Given the description of an element on the screen output the (x, y) to click on. 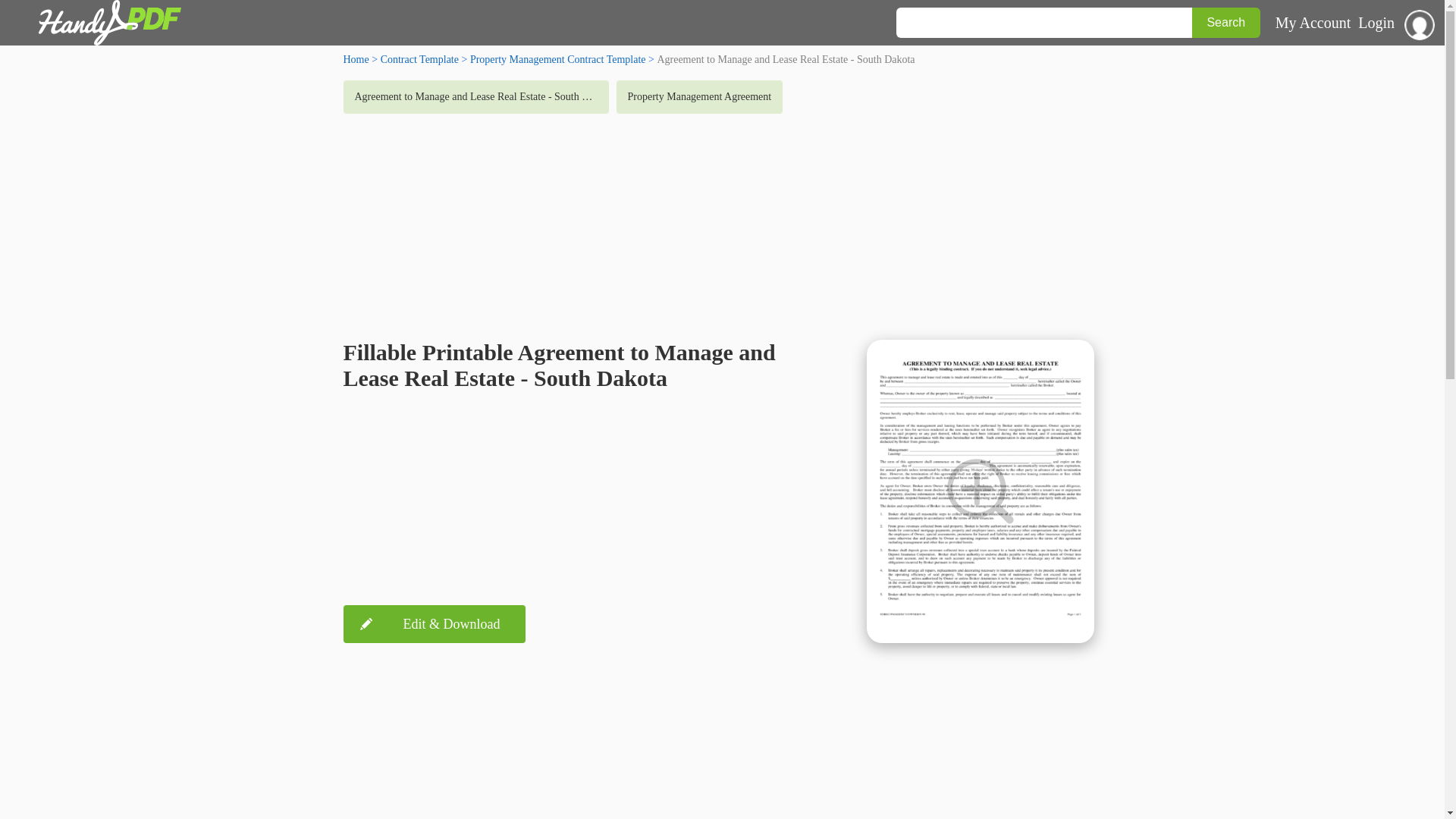
home (355, 59)
Search (1226, 22)
Property Management Agreement (699, 96)
Property Management Contract Template (558, 59)
Home (355, 59)
Property Management Agreement (699, 96)
Search (1226, 22)
My Account (1313, 22)
Agreement to Manage and Lease Real Estate - South Dakota (475, 96)
Contract Template (419, 59)
